Given the description of an element on the screen output the (x, y) to click on. 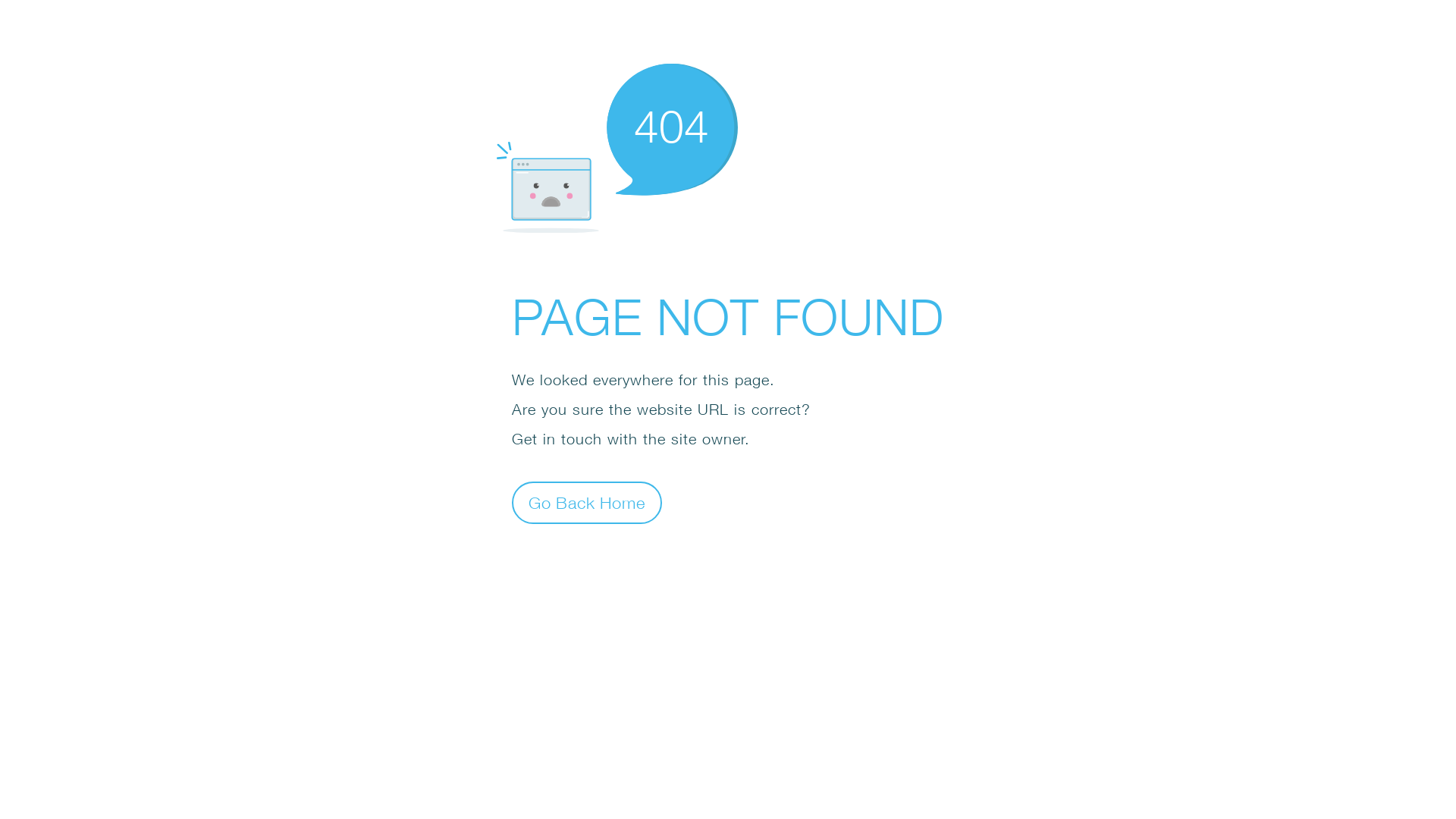
Go Back Home Element type: text (586, 502)
